Given the description of an element on the screen output the (x, y) to click on. 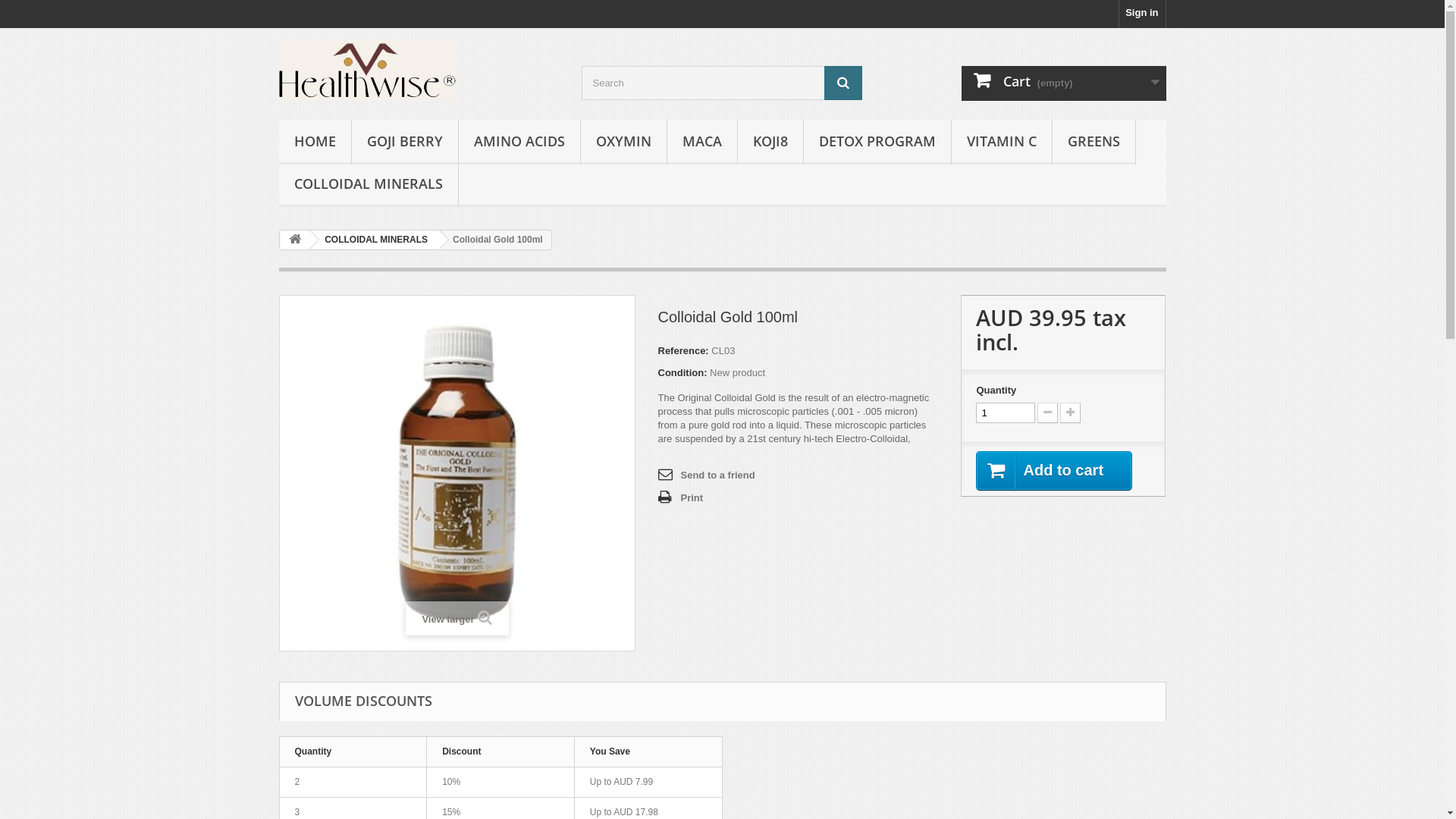
VITAMIN C Element type: text (1000, 141)
Print Element type: text (680, 497)
COLLOIDAL MINERALS Element type: text (368, 184)
Return to Home Element type: hover (294, 239)
AMINO ACIDS Element type: text (518, 141)
GREENS Element type: text (1093, 141)
Add to cart Element type: text (1053, 470)
OXYMIN Element type: text (623, 141)
GOJI BERRY Element type: text (404, 141)
Sign in Element type: text (1141, 14)
COLLOIDAL MINERALS Element type: text (373, 239)
Send to a friend Element type: text (706, 475)
MACA Element type: text (702, 141)
HOME Element type: text (315, 141)
Cart (empty) Element type: text (1063, 82)
Colloidal Gold 100ml Element type: hover (456, 472)
DETOX PROGRAM Element type: text (876, 141)
KOJI8 Element type: text (769, 141)
